Given the description of an element on the screen output the (x, y) to click on. 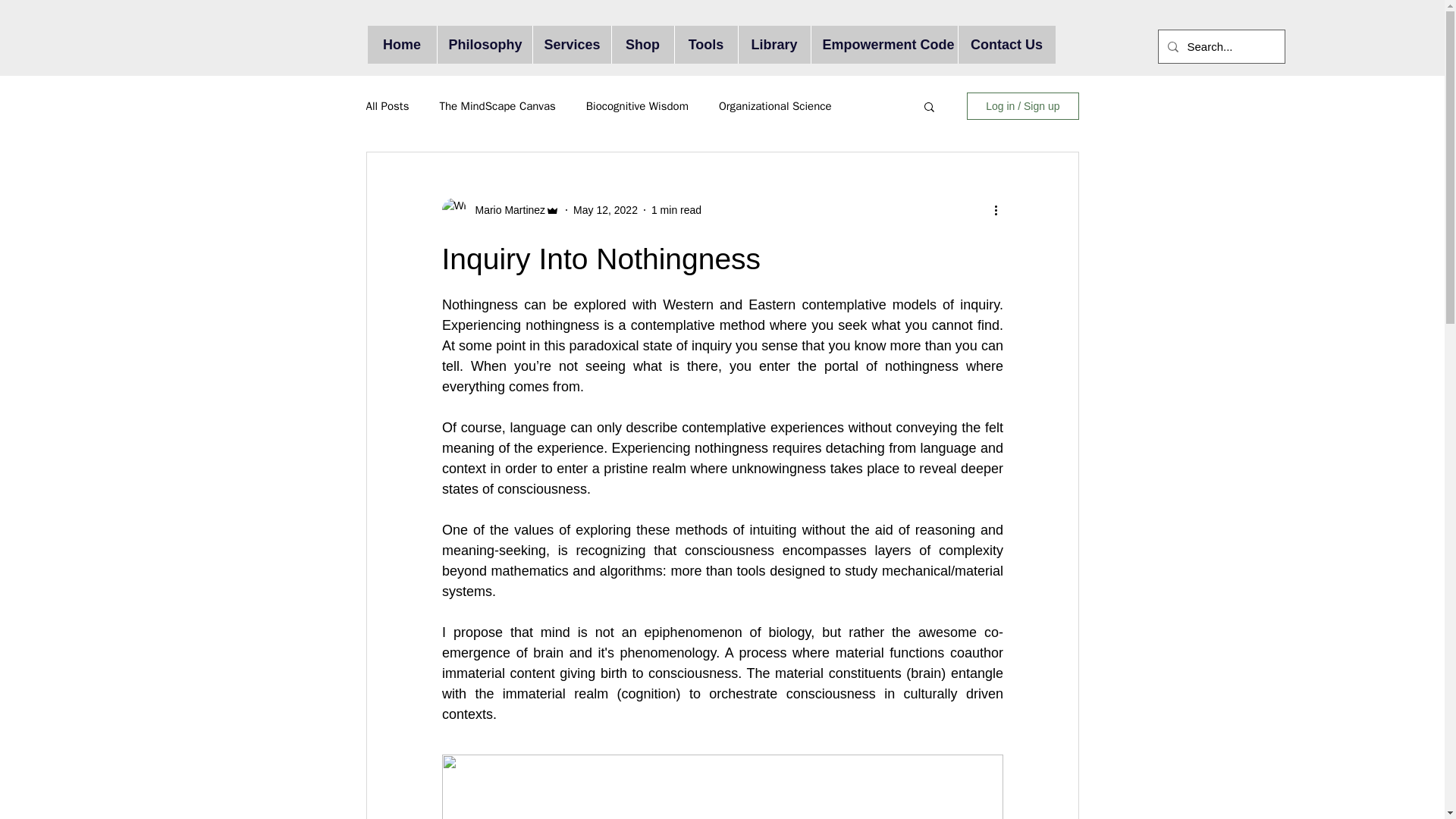
Home (400, 44)
Organizational Science (775, 105)
Library (772, 44)
Contact Us (1005, 44)
Philosophy (484, 44)
Shop (642, 44)
The MindScape Canvas (496, 105)
1 min read (675, 209)
May 12, 2022 (605, 209)
Mario Martinez (500, 209)
